Given the description of an element on the screen output the (x, y) to click on. 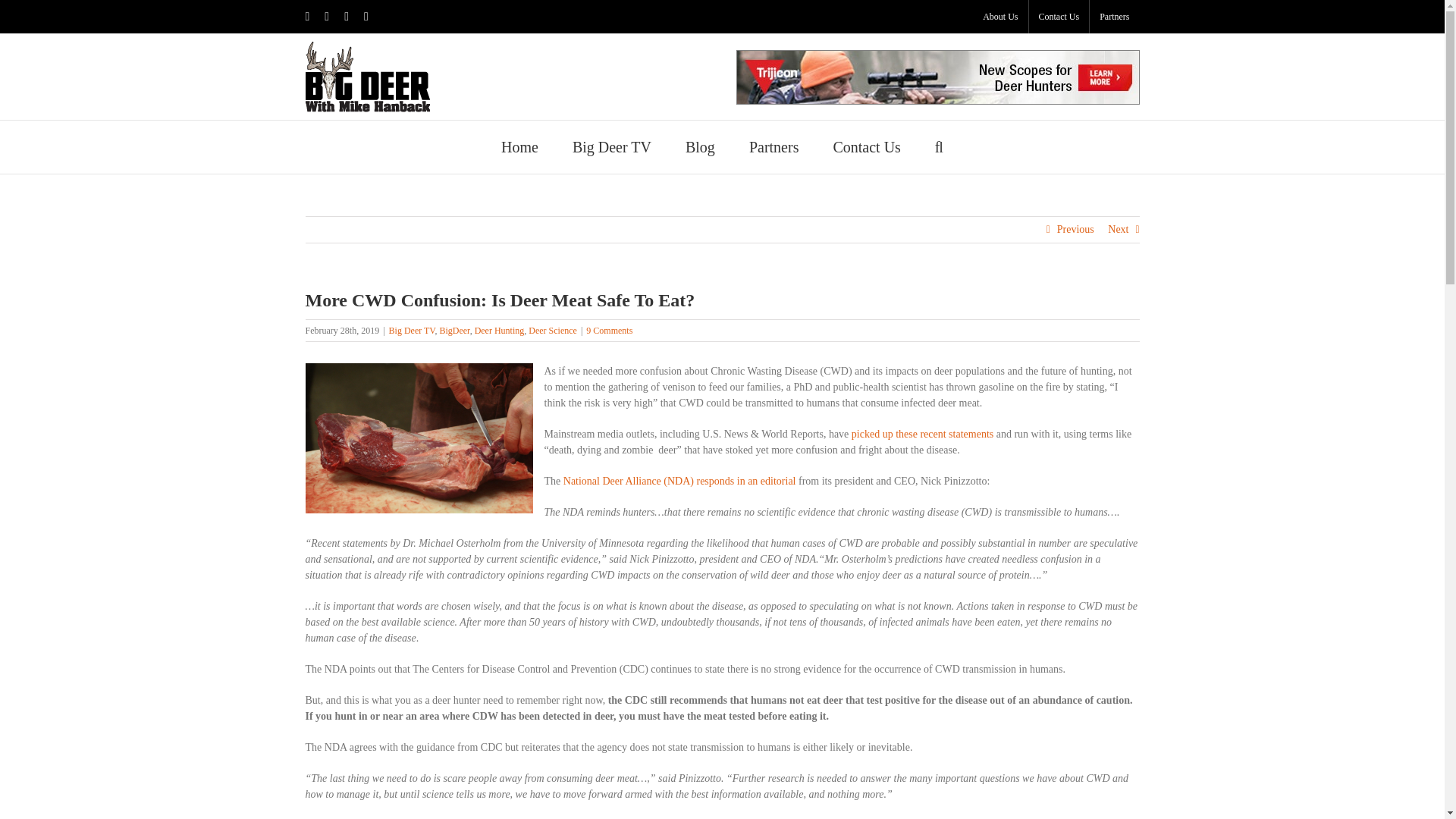
About Us (999, 16)
Contact Us (865, 146)
Partners (1113, 16)
Partners (774, 146)
Big Deer TV (611, 146)
Contact Us (1058, 16)
